Given the description of an element on the screen output the (x, y) to click on. 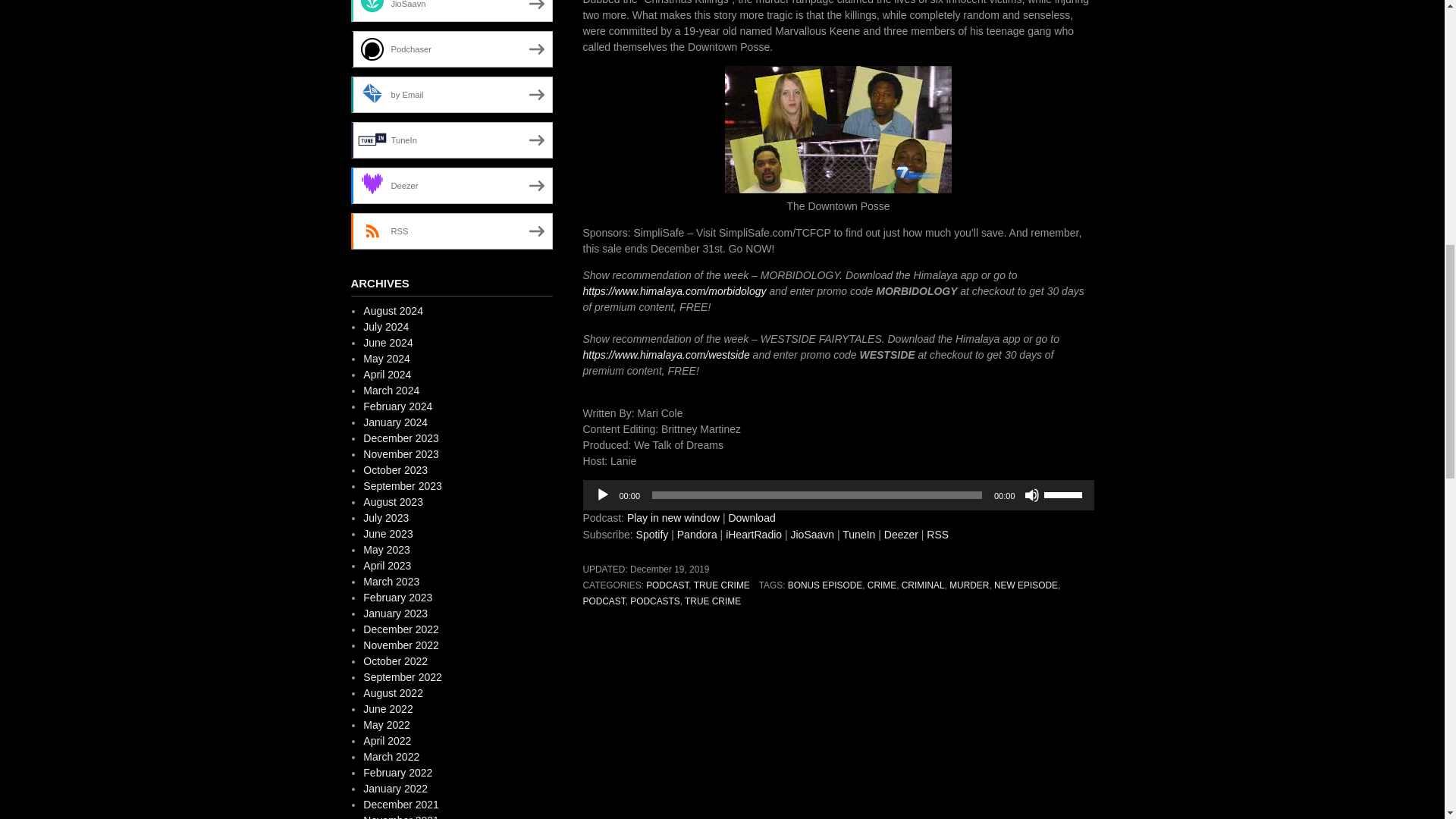
Play in new window (673, 517)
Play (602, 494)
Download (751, 517)
Mute (1031, 494)
Subscribe on iHeartRadio (753, 534)
Subscribe on Pandora (697, 534)
Subscribe on Spotify (652, 534)
